Given the description of an element on the screen output the (x, y) to click on. 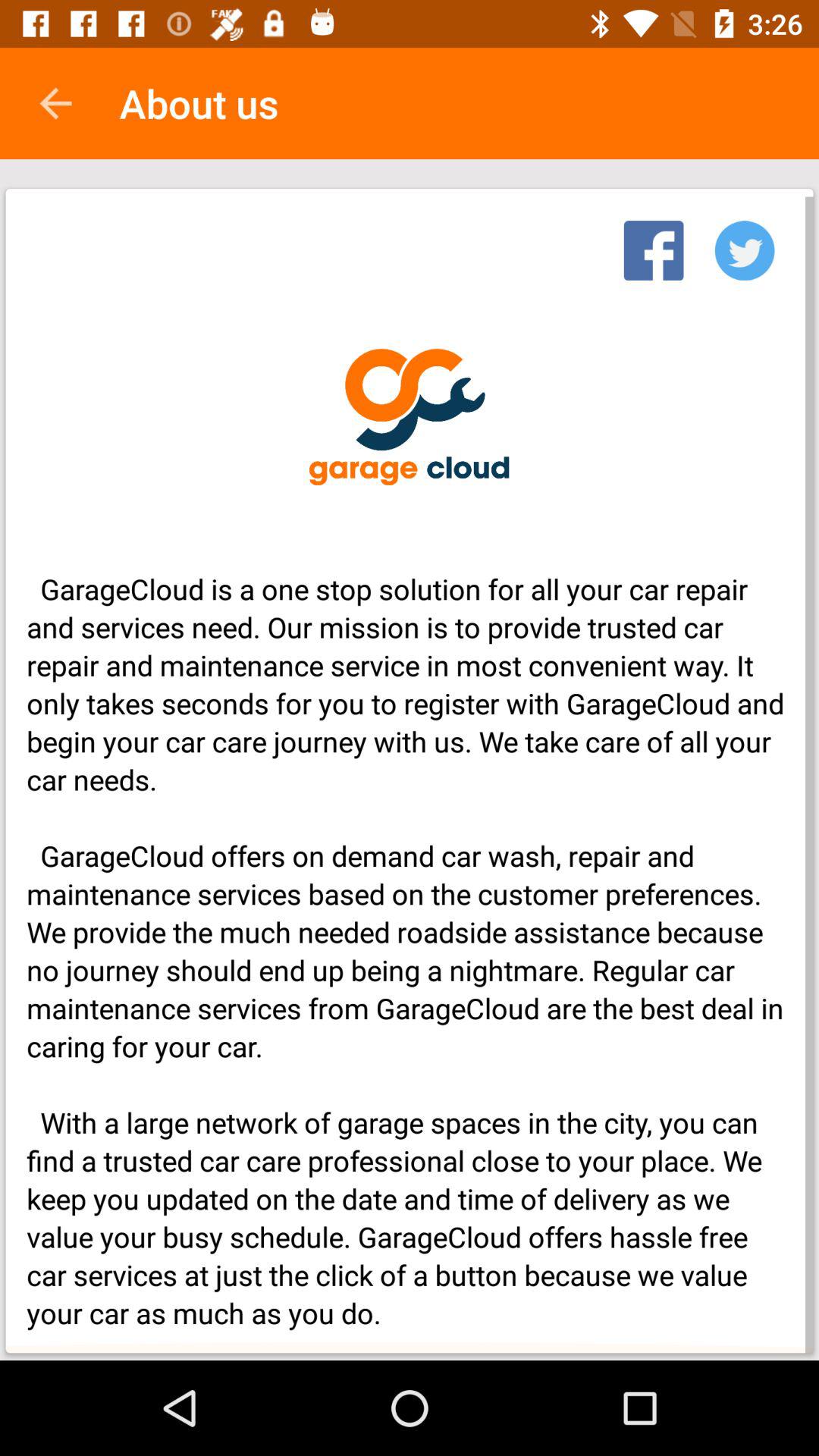
turn off icon above the garagecloud is a item (653, 246)
